Given the description of an element on the screen output the (x, y) to click on. 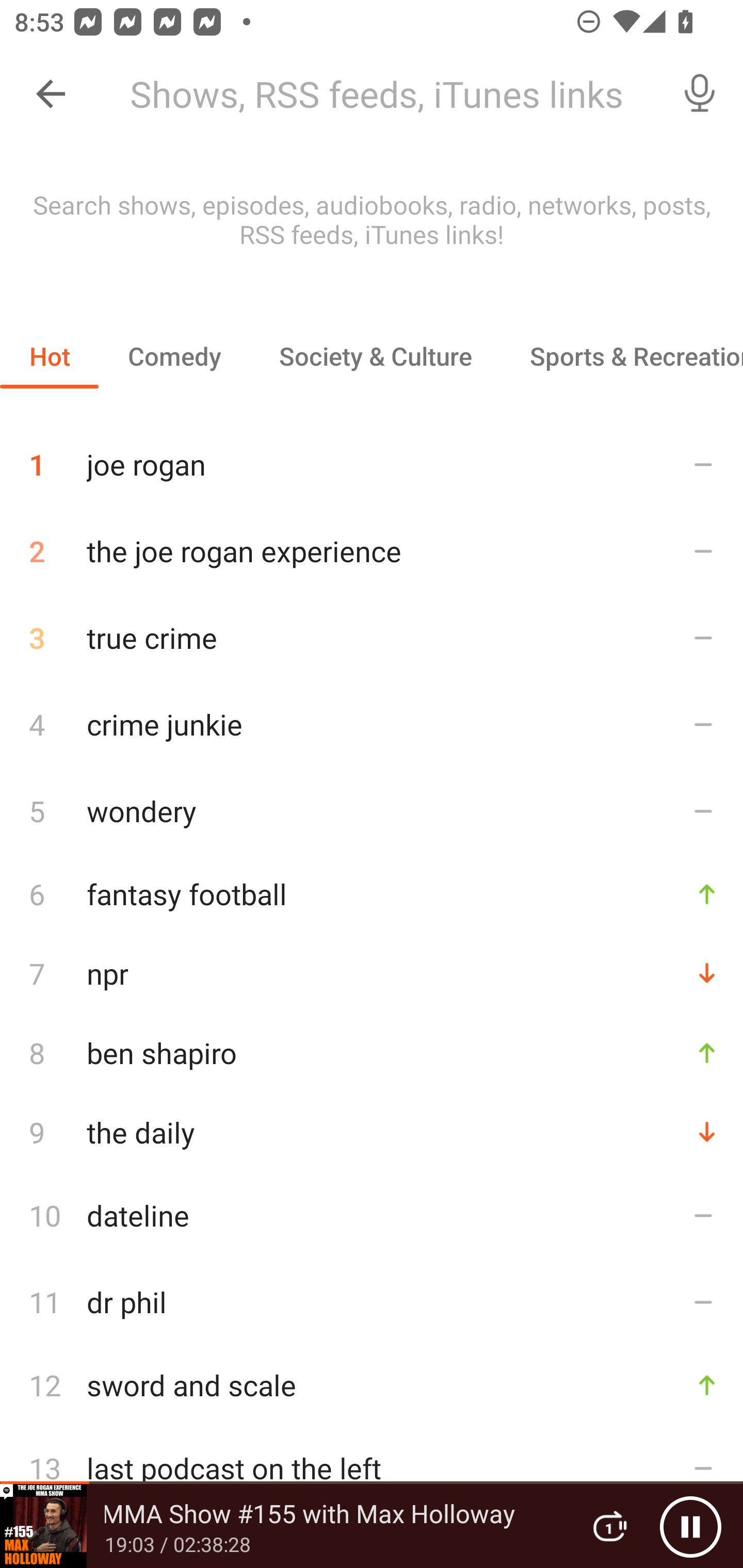
Collapse (50, 93)
Voice Search (699, 93)
Shows, RSS feeds, iTunes links (385, 94)
Hot (49, 355)
Comedy (173, 355)
Society & Culture (374, 355)
Sports & Recreation (621, 355)
1 joe rogan (371, 457)
2 the joe rogan experience (371, 551)
3 true crime (371, 637)
4 crime junkie (371, 723)
5 wondery (371, 810)
6 fantasy football (371, 893)
7 npr (371, 972)
8 ben shapiro (371, 1052)
9 the daily (371, 1131)
10 dateline (371, 1215)
11 dr phil (371, 1302)
12 sword and scale (371, 1385)
13 last podcast on the left (371, 1468)
Pause (690, 1526)
